Given the description of an element on the screen output the (x, y) to click on. 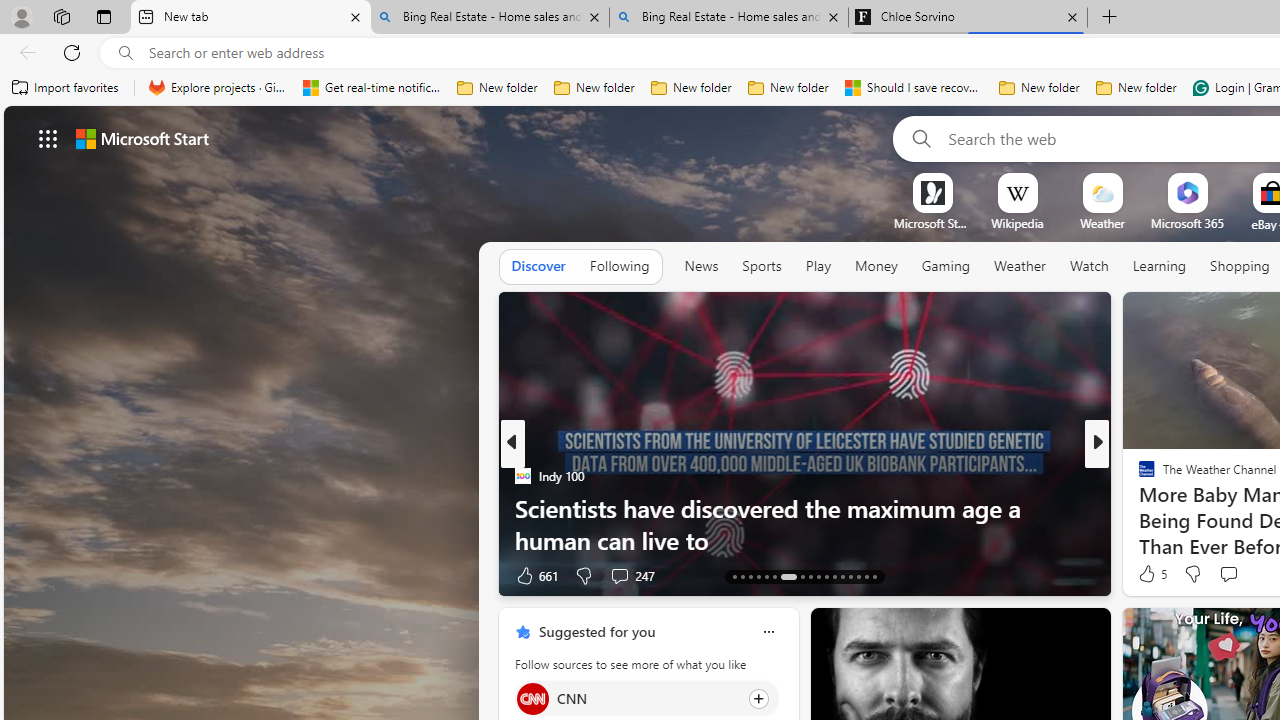
AutomationID: tab-17 (765, 576)
AutomationID: tab-18 (774, 576)
View comments 58 Comment (11, 575)
93 Like (1149, 574)
New folder (1136, 88)
Sports (761, 265)
75 Like (1149, 574)
Money (876, 267)
